Given the description of an element on the screen output the (x, y) to click on. 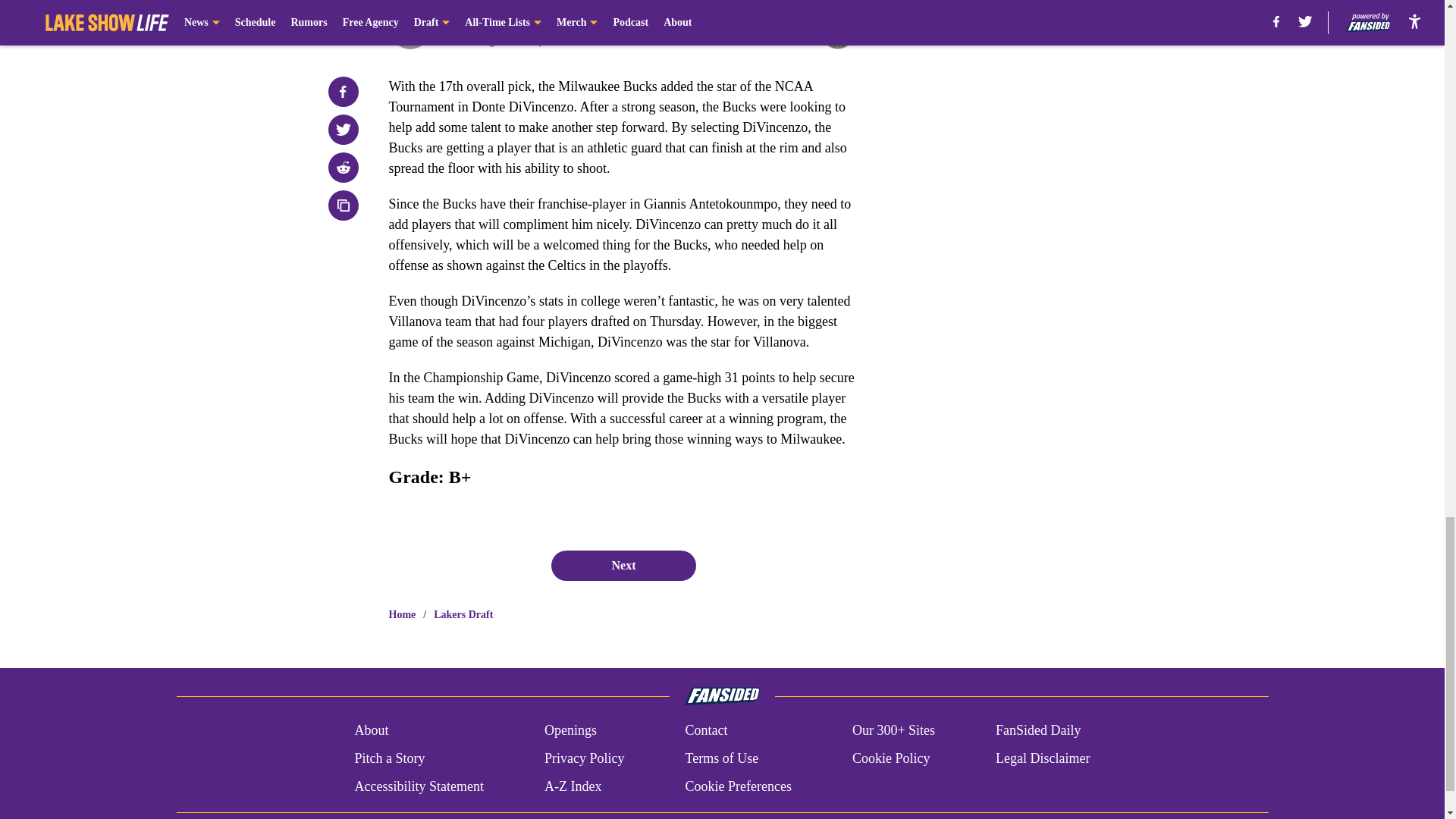
Lakers Draft (463, 614)
Next (622, 565)
Home (401, 614)
